Given the description of an element on the screen output the (x, y) to click on. 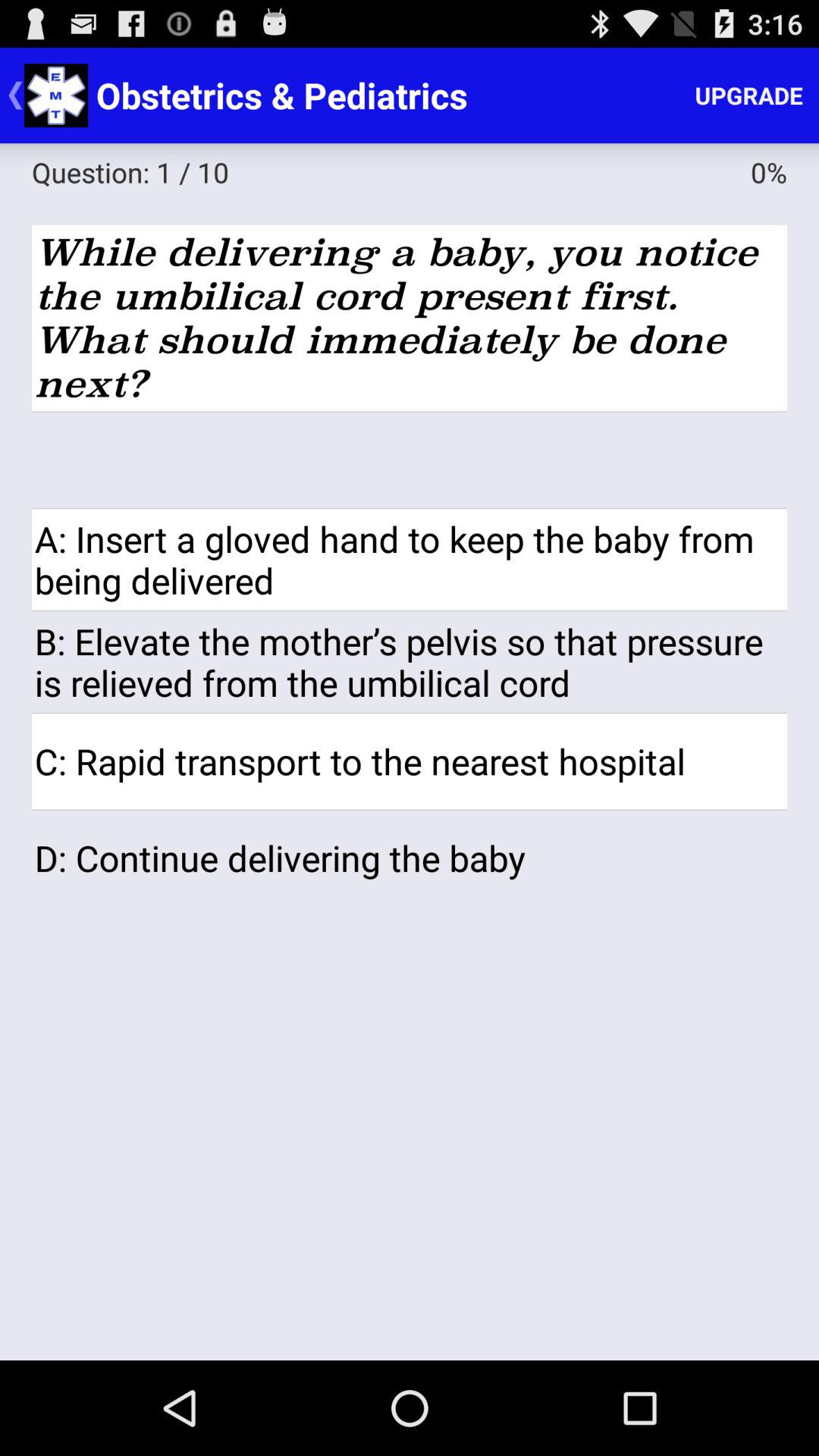
select app above d continue delivering icon (409, 761)
